Given the description of an element on the screen output the (x, y) to click on. 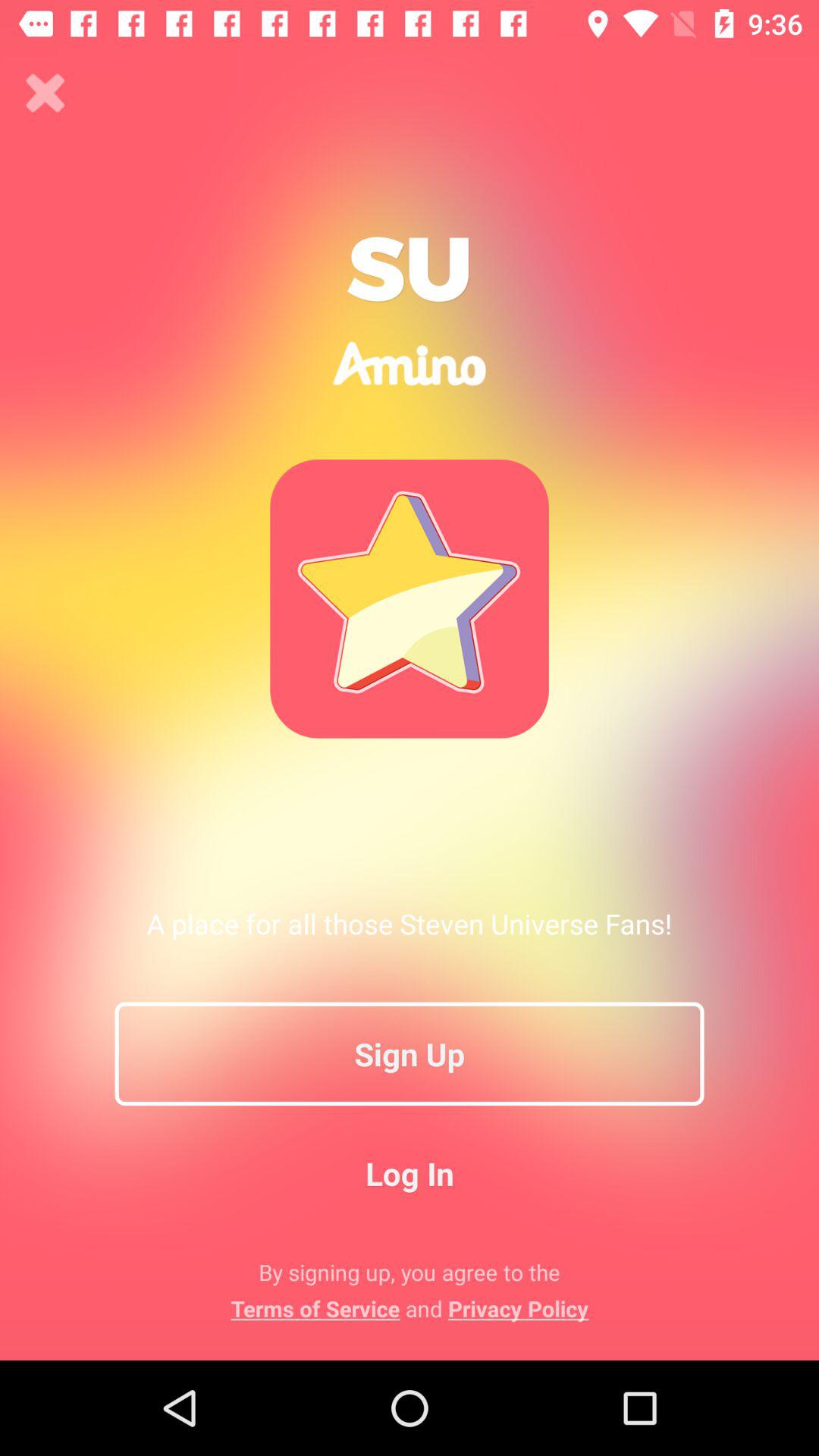
click the mark (45, 93)
